Given the description of an element on the screen output the (x, y) to click on. 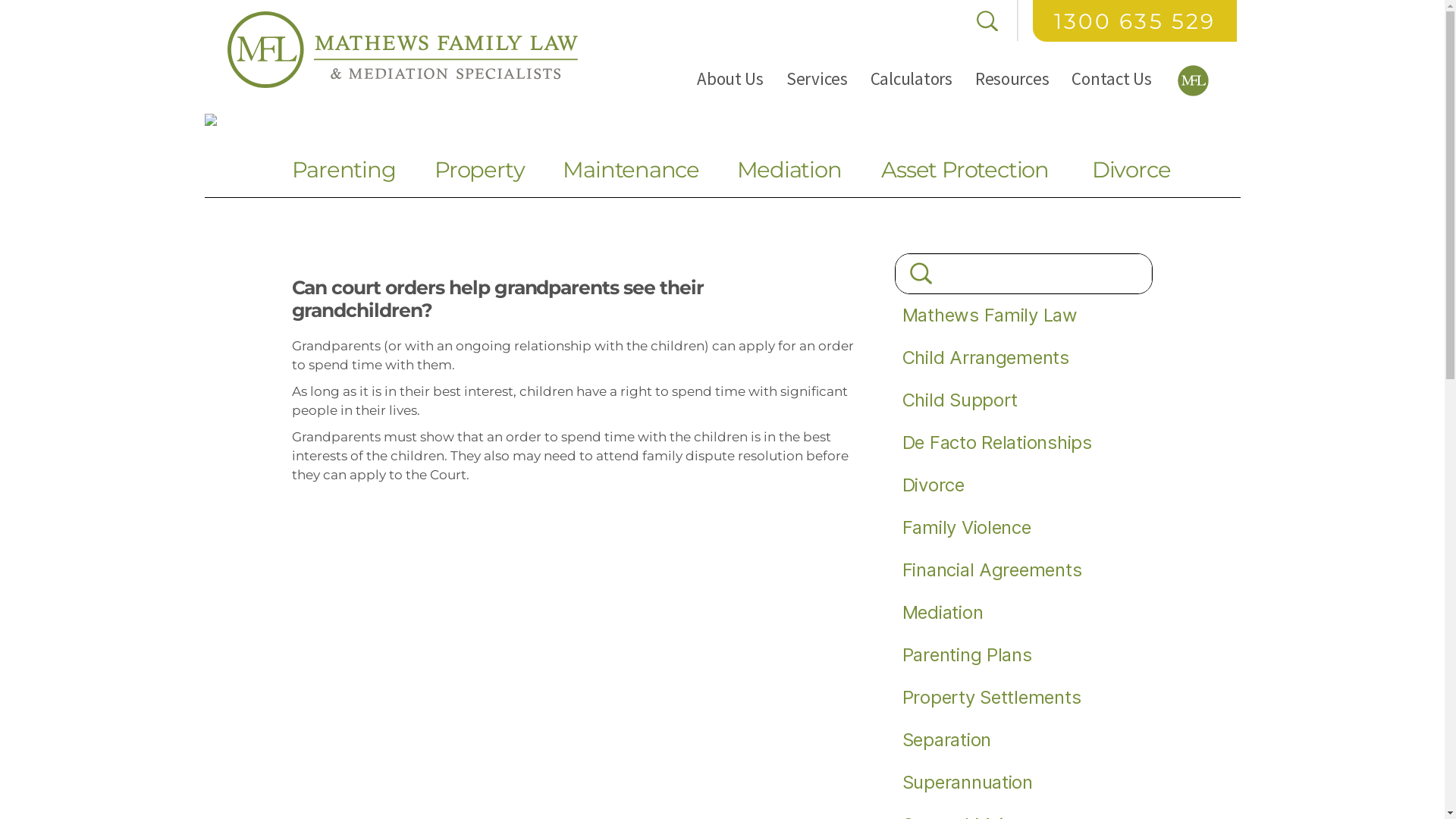
Child Arrangements Element type: text (985, 357)
About Us Element type: text (730, 78)
Resources Element type: text (1011, 78)
1300 635 529 Element type: text (1134, 21)
Child Support Element type: text (960, 400)
Parenting Plans Element type: text (967, 654)
Services Element type: text (817, 78)
Property Settlements Element type: text (991, 697)
Property Element type: text (479, 169)
Mediation Element type: text (789, 169)
Calculators Element type: text (911, 78)
Asset Protection Element type: text (964, 169)
Divorce Element type: text (933, 484)
Maintenance Element type: text (630, 169)
Contact Us Element type: text (1111, 78)
Mathews Family Law Element type: text (989, 315)
Parenting Element type: text (343, 169)
Divorce Element type: text (1131, 169)
Family Violence Element type: text (966, 527)
Separation Element type: text (946, 739)
Mediation Element type: text (942, 612)
Superannuation Element type: text (967, 782)
De Facto Relationships Element type: text (997, 442)
Financial Agreements Element type: text (992, 569)
Search Element type: hover (1023, 273)
